Given the description of an element on the screen output the (x, y) to click on. 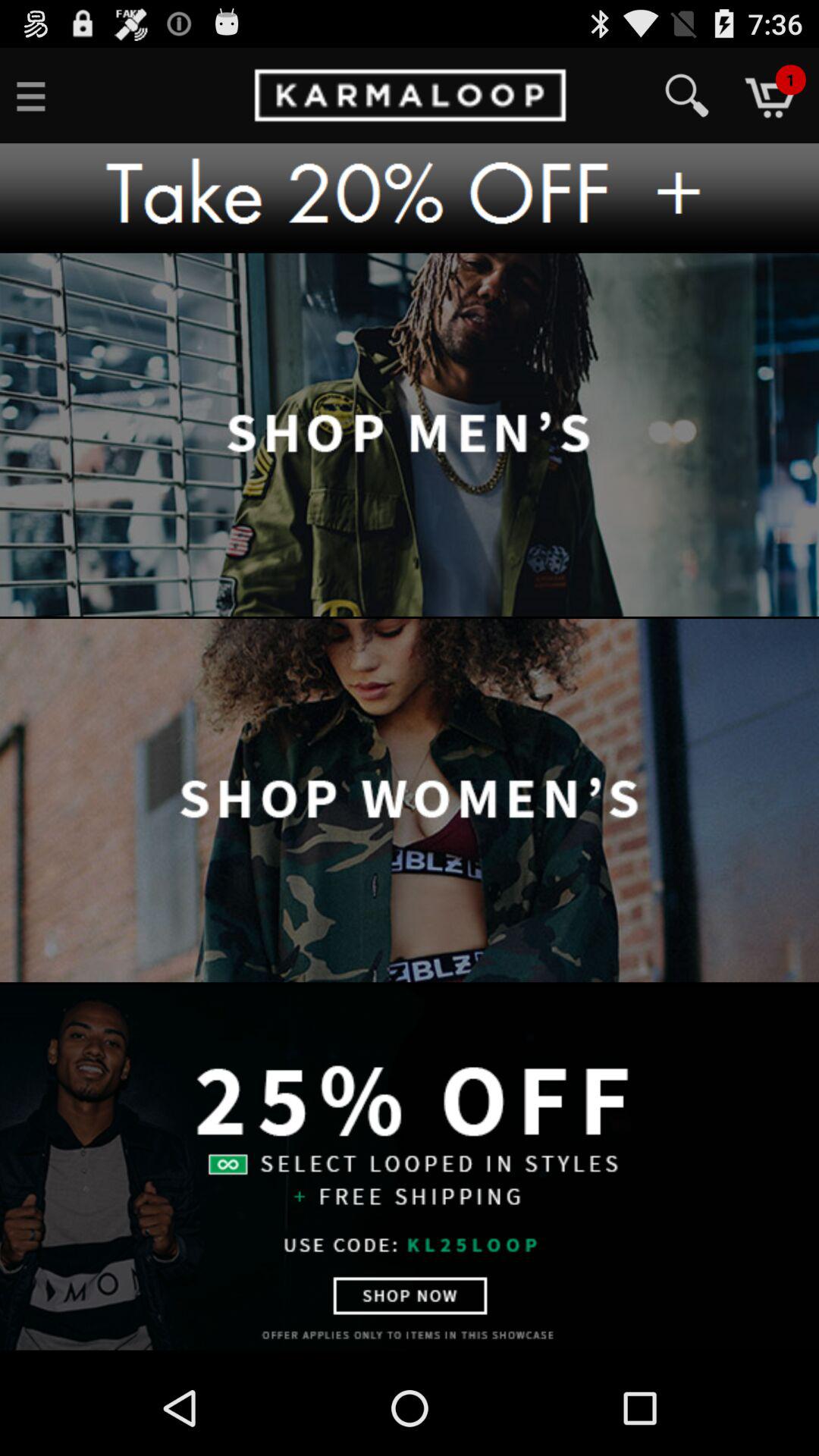
open shop women 's (409, 801)
